Given the description of an element on the screen output the (x, y) to click on. 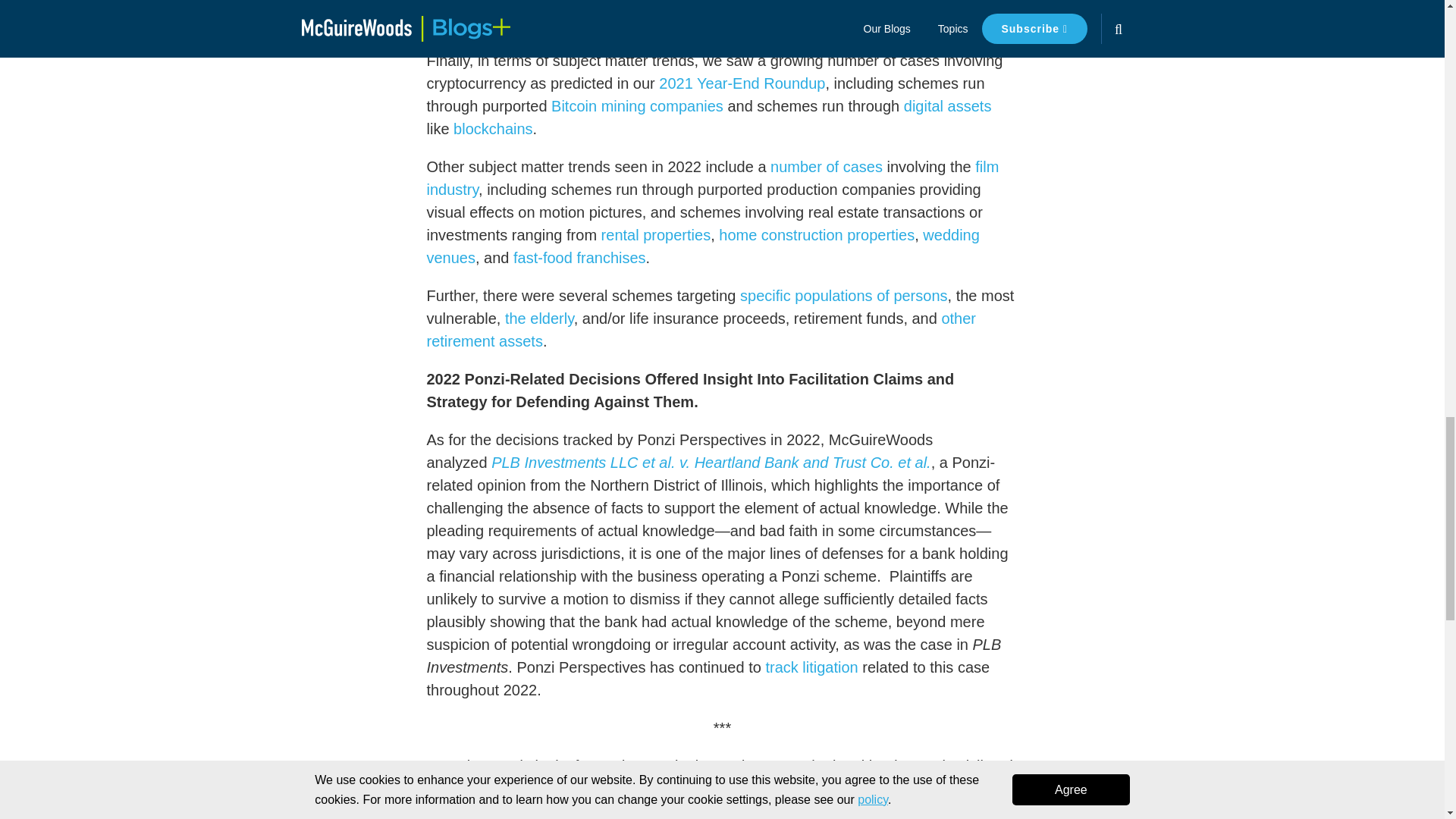
wedding venues (702, 246)
specific populations of persons (843, 295)
digital assets (947, 105)
blockchains (492, 128)
2021 Year-End Roundup (742, 83)
the elderly (539, 318)
Bitcoin mining companies (637, 105)
home construction properties (816, 234)
rental properties (656, 234)
number of cases (826, 166)
fast-food franchises (579, 257)
film industry (712, 178)
